Given the description of an element on the screen output the (x, y) to click on. 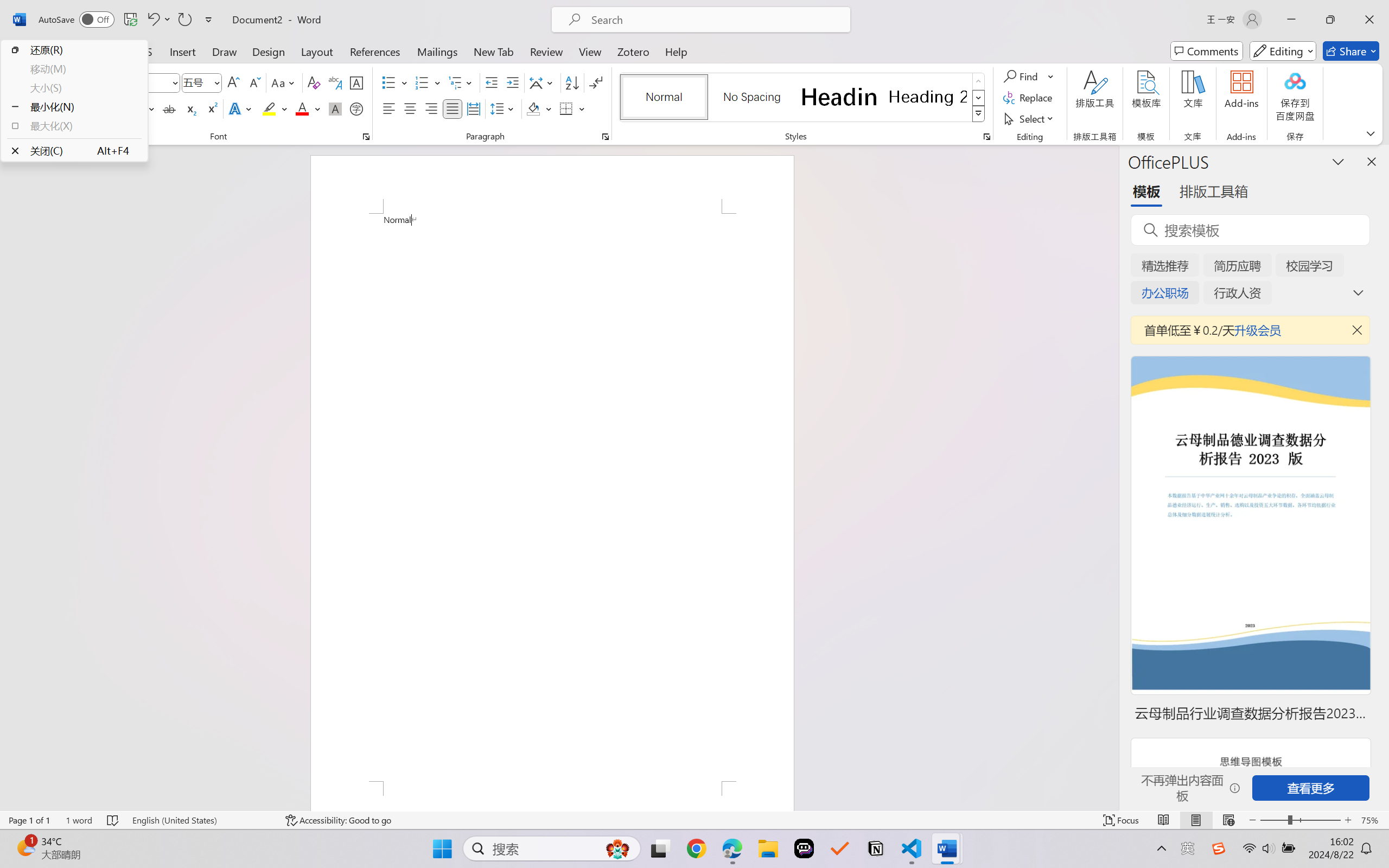
Align Right (431, 108)
OfficePLUS (126, 51)
More Options (1051, 75)
Spelling and Grammar Check No Errors (113, 819)
Repeat Doc Close (184, 19)
Review (546, 51)
Undo Apply Quick Style (158, 19)
Find (1029, 75)
Justify (452, 108)
Mode (1283, 50)
Share (1350, 51)
Close (1369, 19)
